Given the description of an element on the screen output the (x, y) to click on. 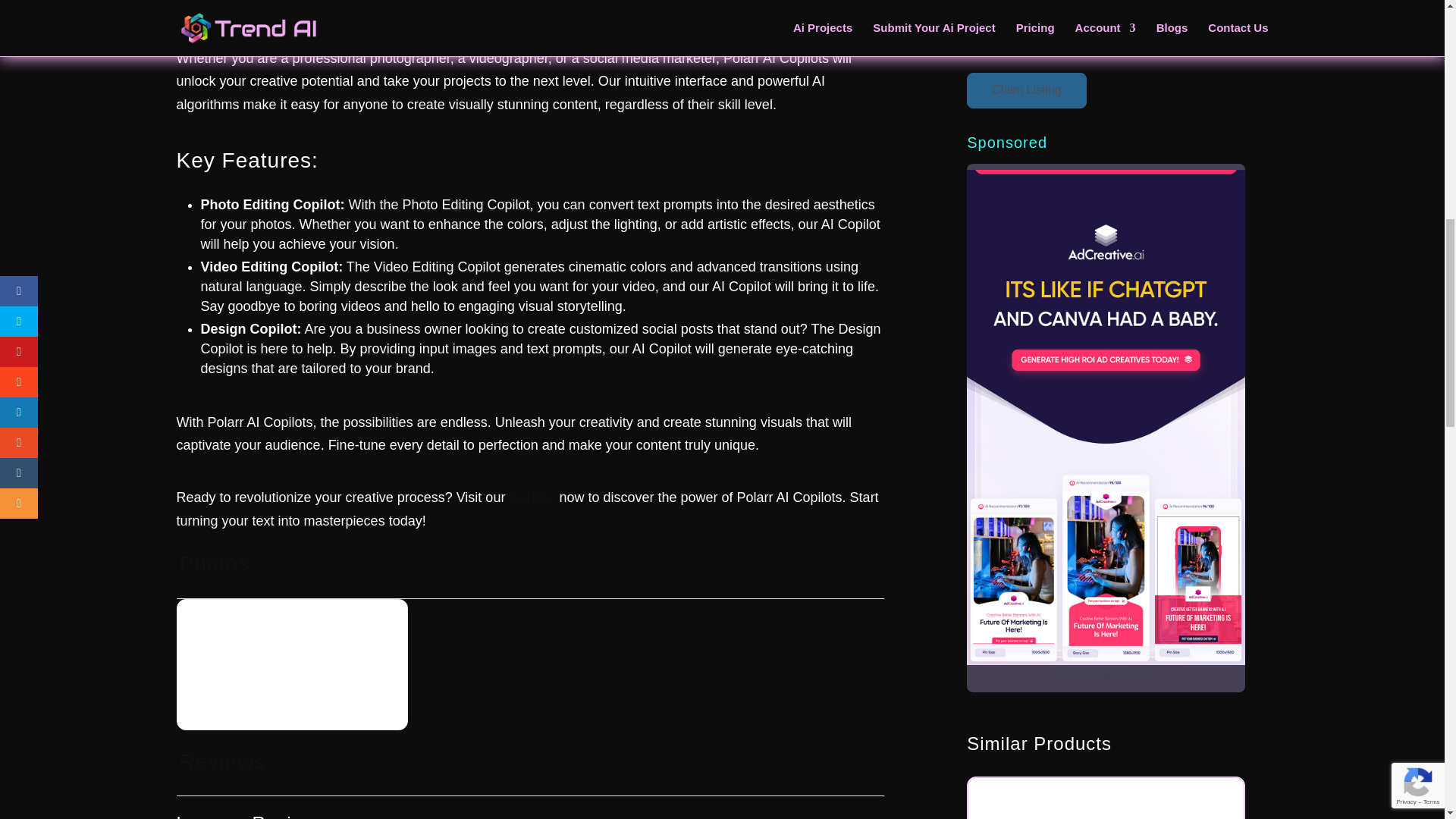
Advertise Here (1106, 675)
website (531, 497)
Claim Listing (1026, 90)
Photos (212, 563)
Reviews (220, 761)
